Given the description of an element on the screen output the (x, y) to click on. 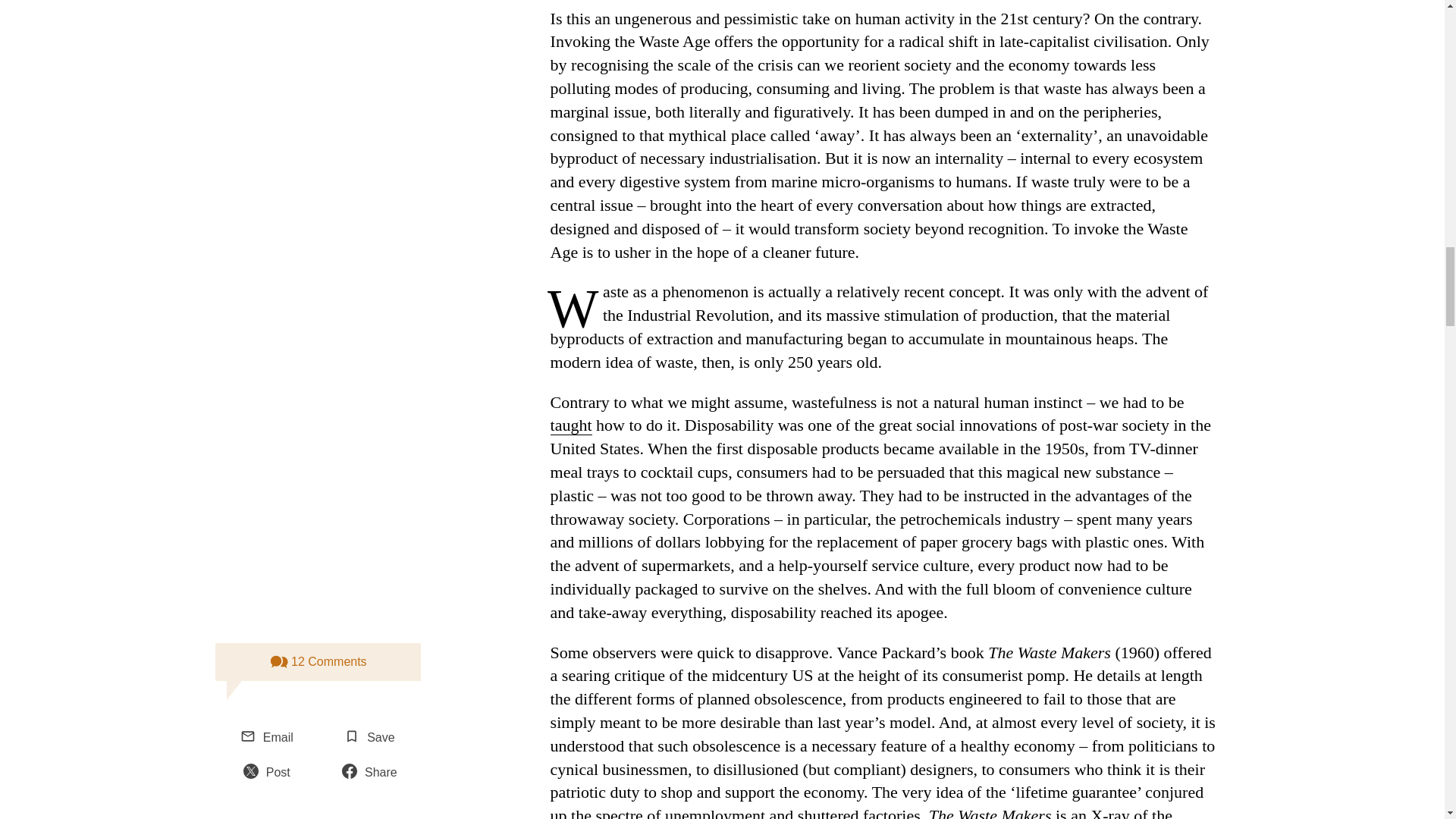
taught (571, 424)
